Given the description of an element on the screen output the (x, y) to click on. 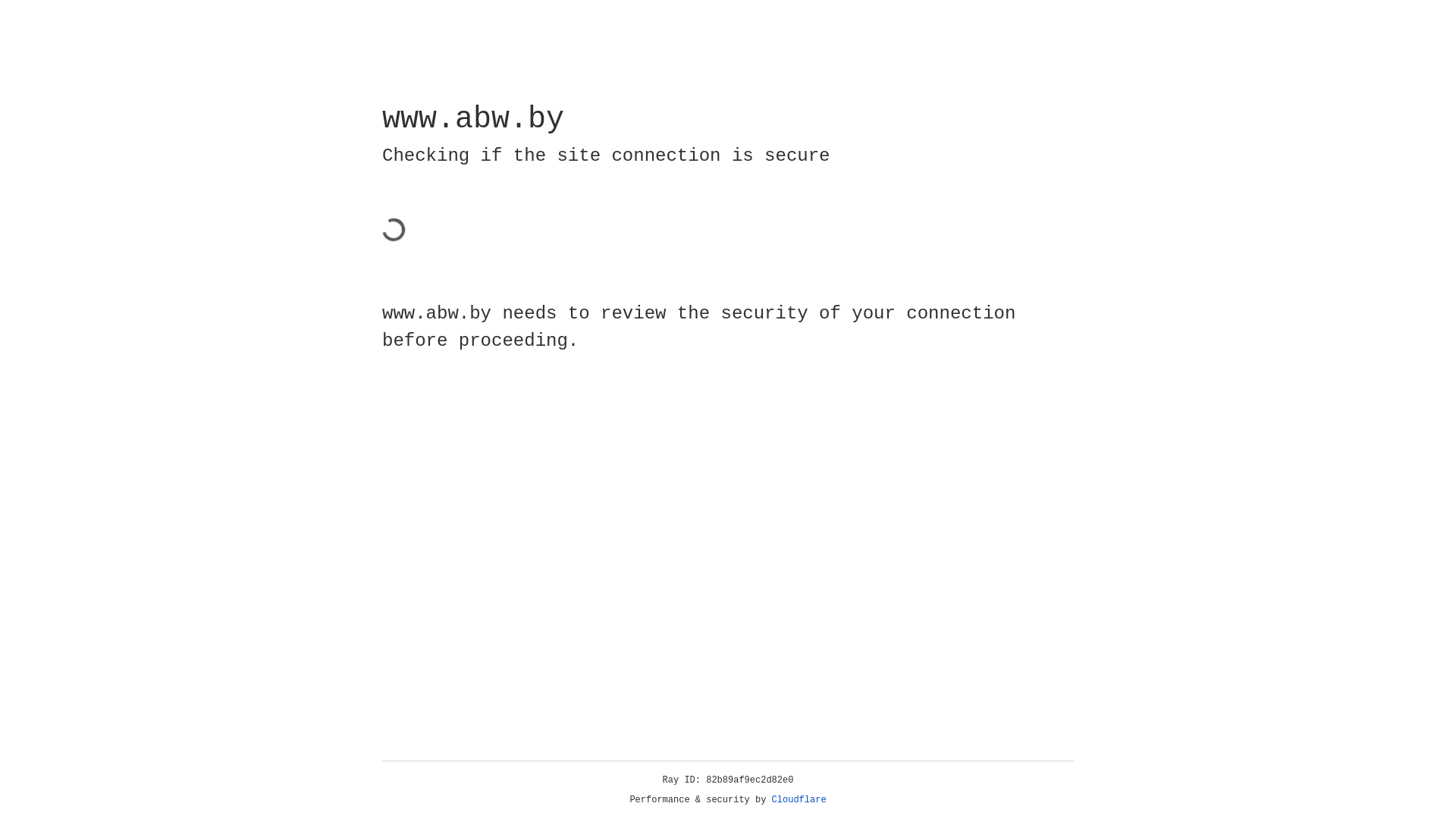
Cloudflare Element type: text (798, 799)
